Given the description of an element on the screen output the (x, y) to click on. 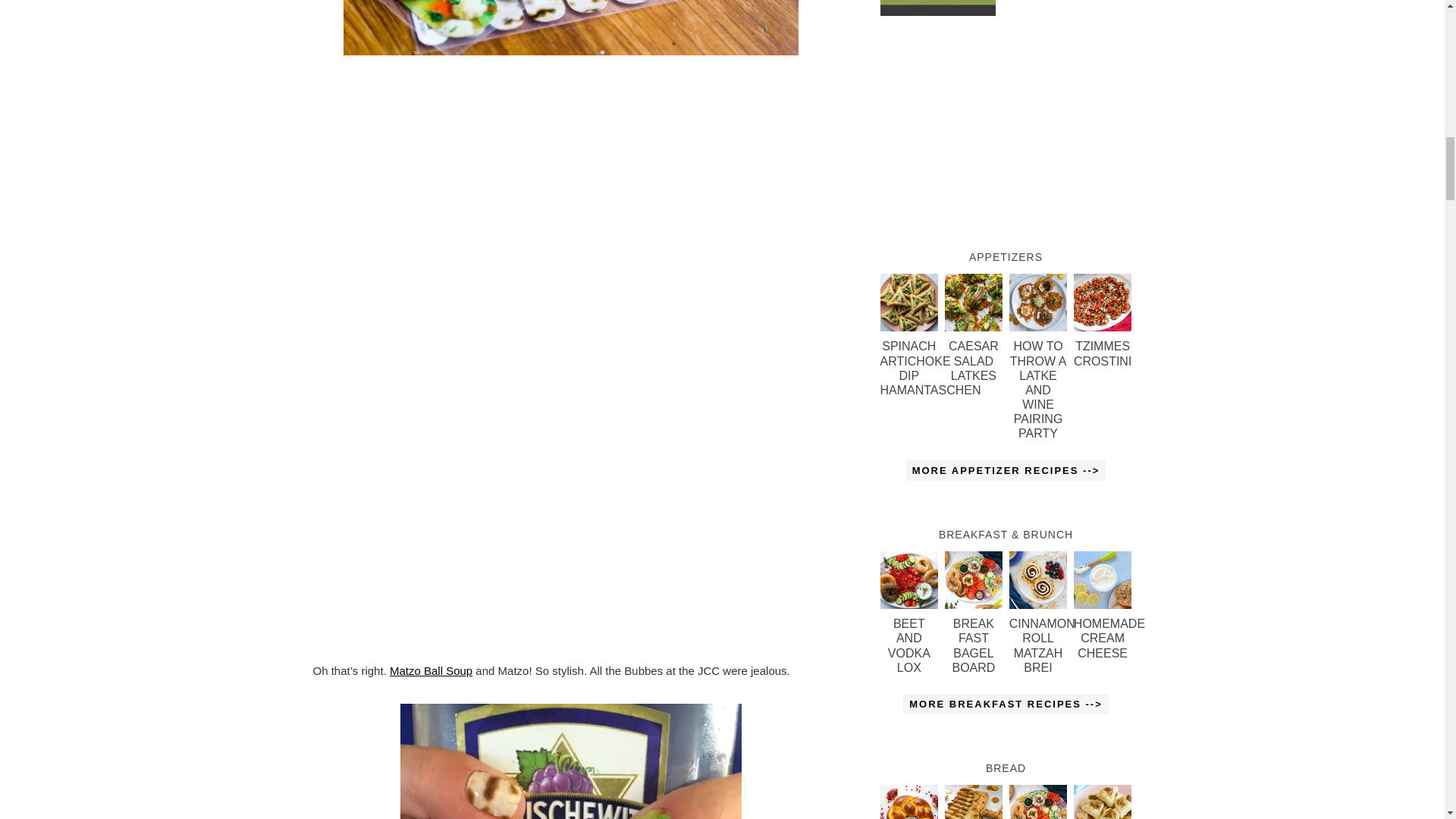
Appetizers (1005, 470)
Matzo Ball Soup (430, 670)
Caesar Salad Latkes (973, 302)
Beet and Vodka Lox (908, 580)
Spinach Artichoke Dip Hamantaschen (908, 302)
Tzimmes Crostini (1103, 302)
Break Fast Bagel Board (973, 580)
How to Throw a Latke and Wine Pairing Party (1038, 302)
